Given the description of an element on the screen output the (x, y) to click on. 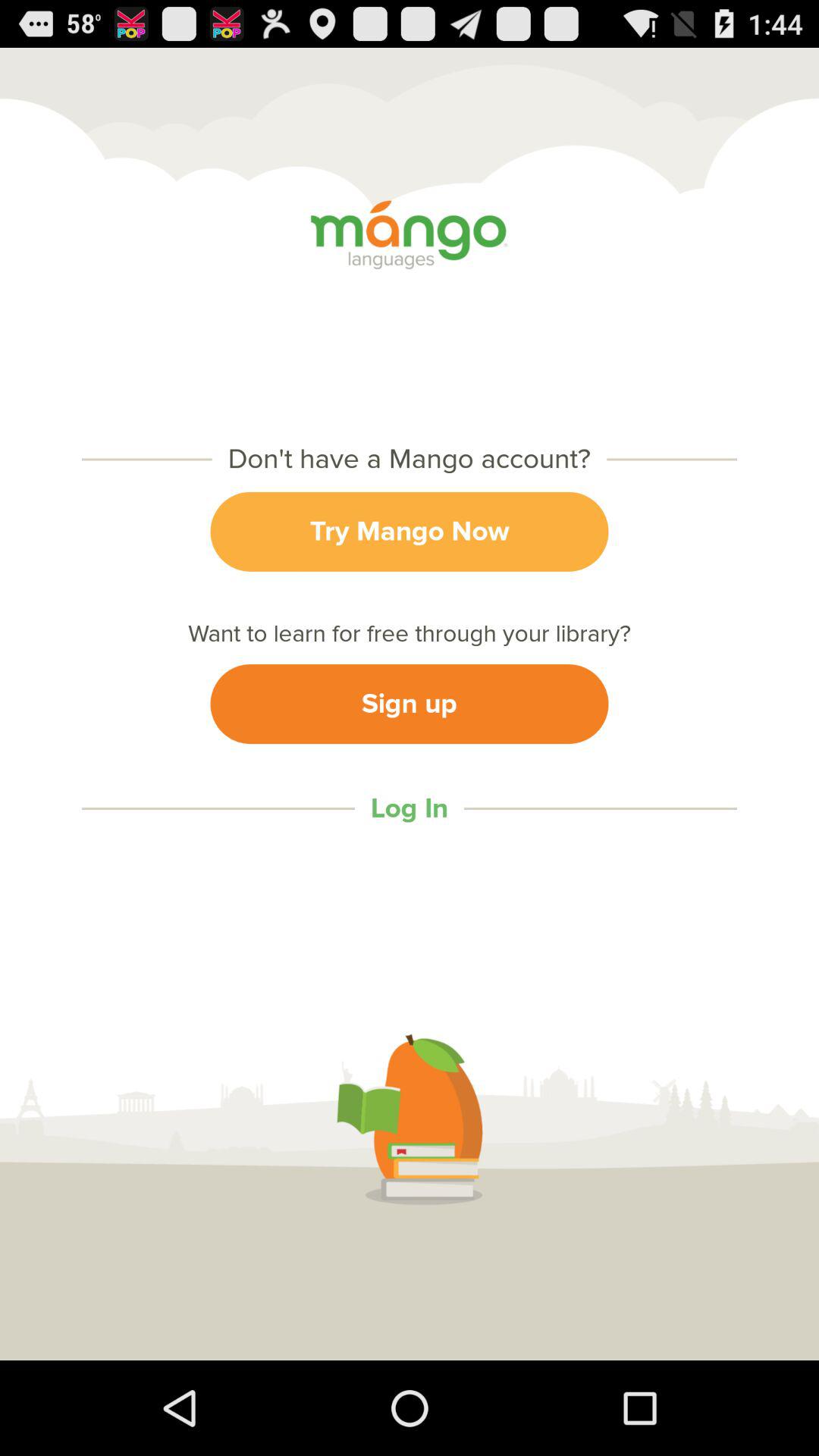
jump to the try mango now item (409, 531)
